Given the description of an element on the screen output the (x, y) to click on. 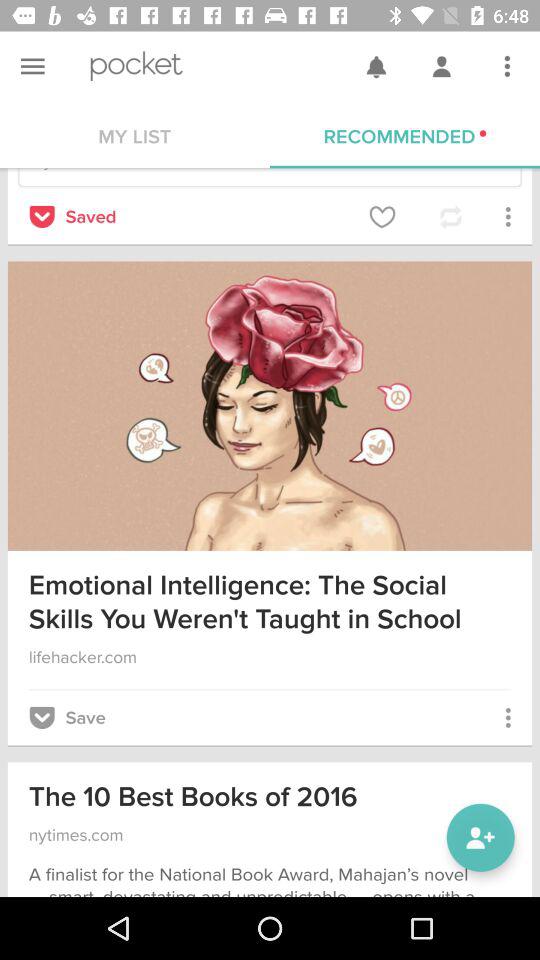
launch icon above recommended (507, 66)
